Given the description of an element on the screen output the (x, y) to click on. 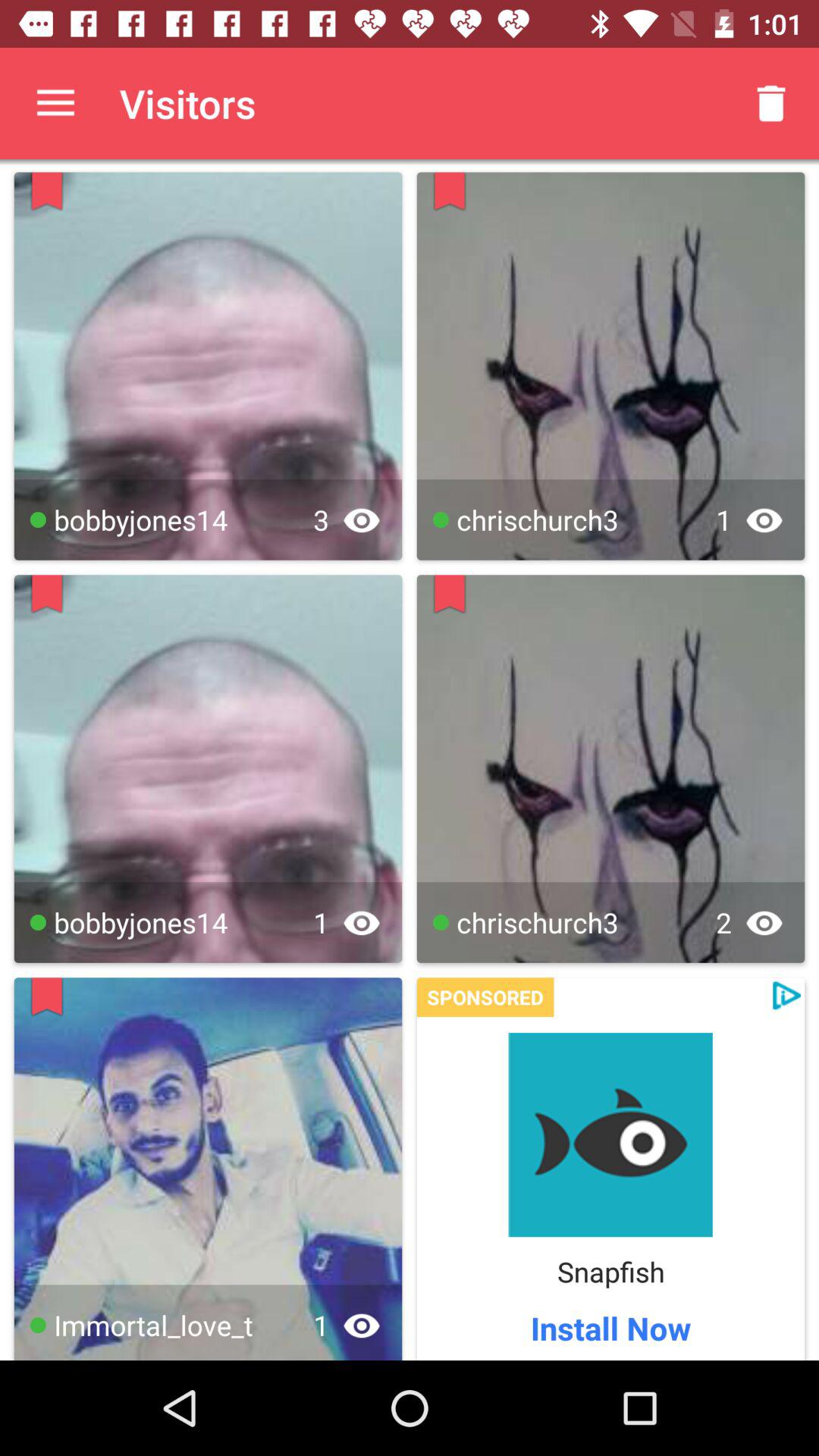
jump to snapfish (610, 1271)
